Given the description of an element on the screen output the (x, y) to click on. 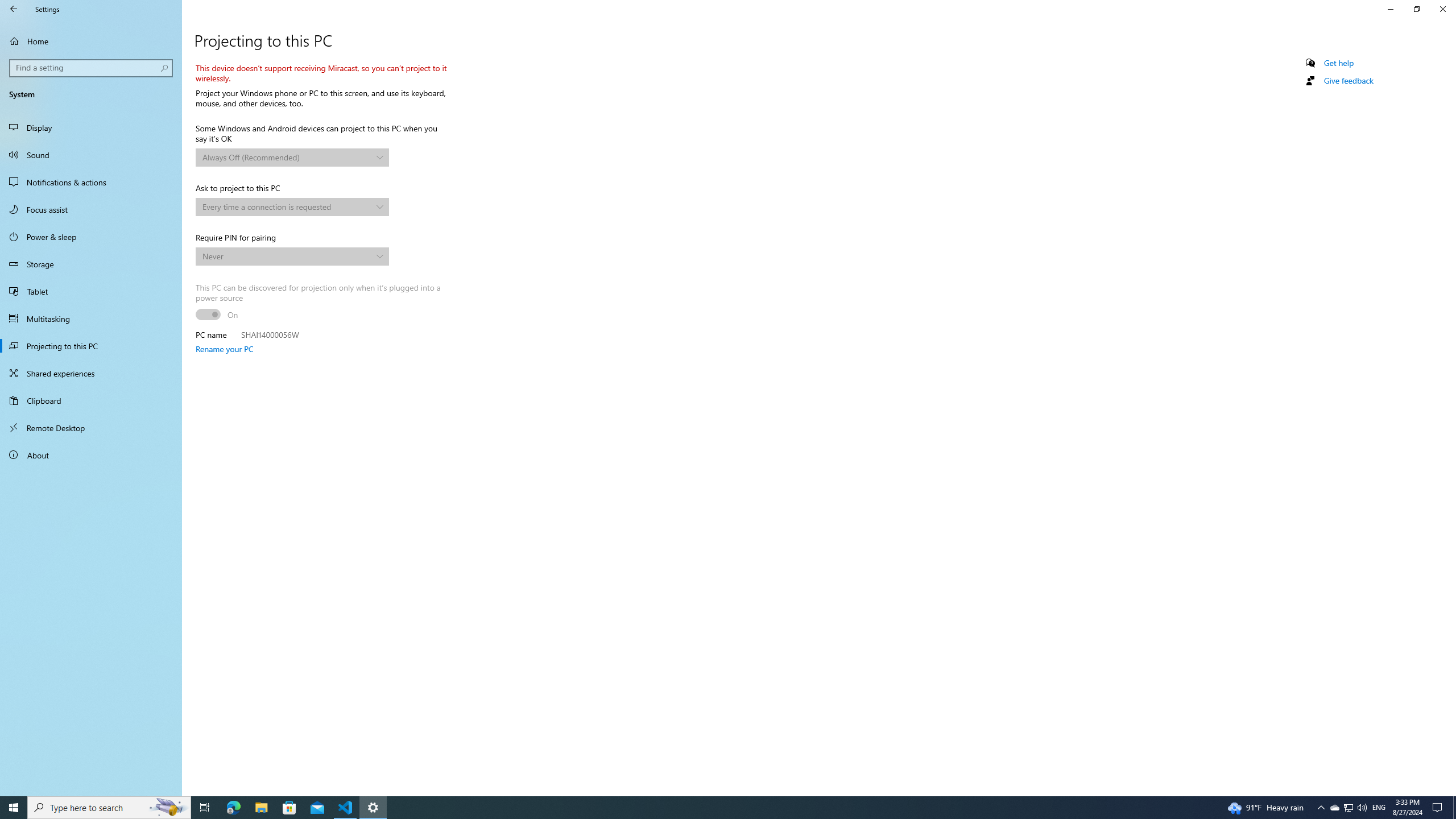
Rename your PC (224, 348)
Tablet (91, 290)
